Given the description of an element on the screen output the (x, y) to click on. 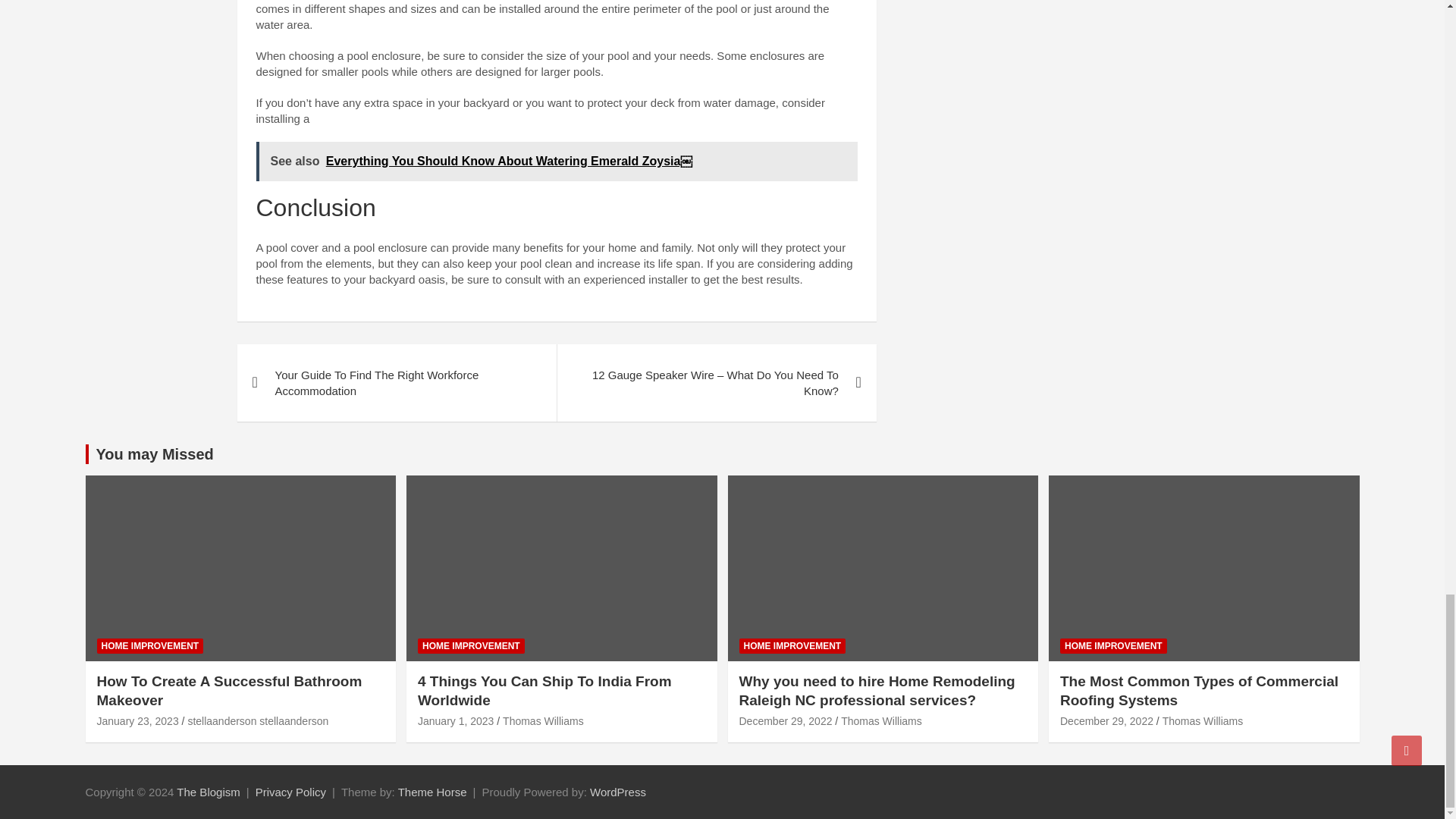
4 Things You Can Ship To India From Worldwide (455, 720)
The Most Common Types of Commercial Roofing Systems (1106, 720)
WordPress (617, 791)
Theme Horse (432, 791)
How To Create A Successful Bathroom Makeover (138, 720)
The Blogism (208, 791)
